Given the description of an element on the screen output the (x, y) to click on. 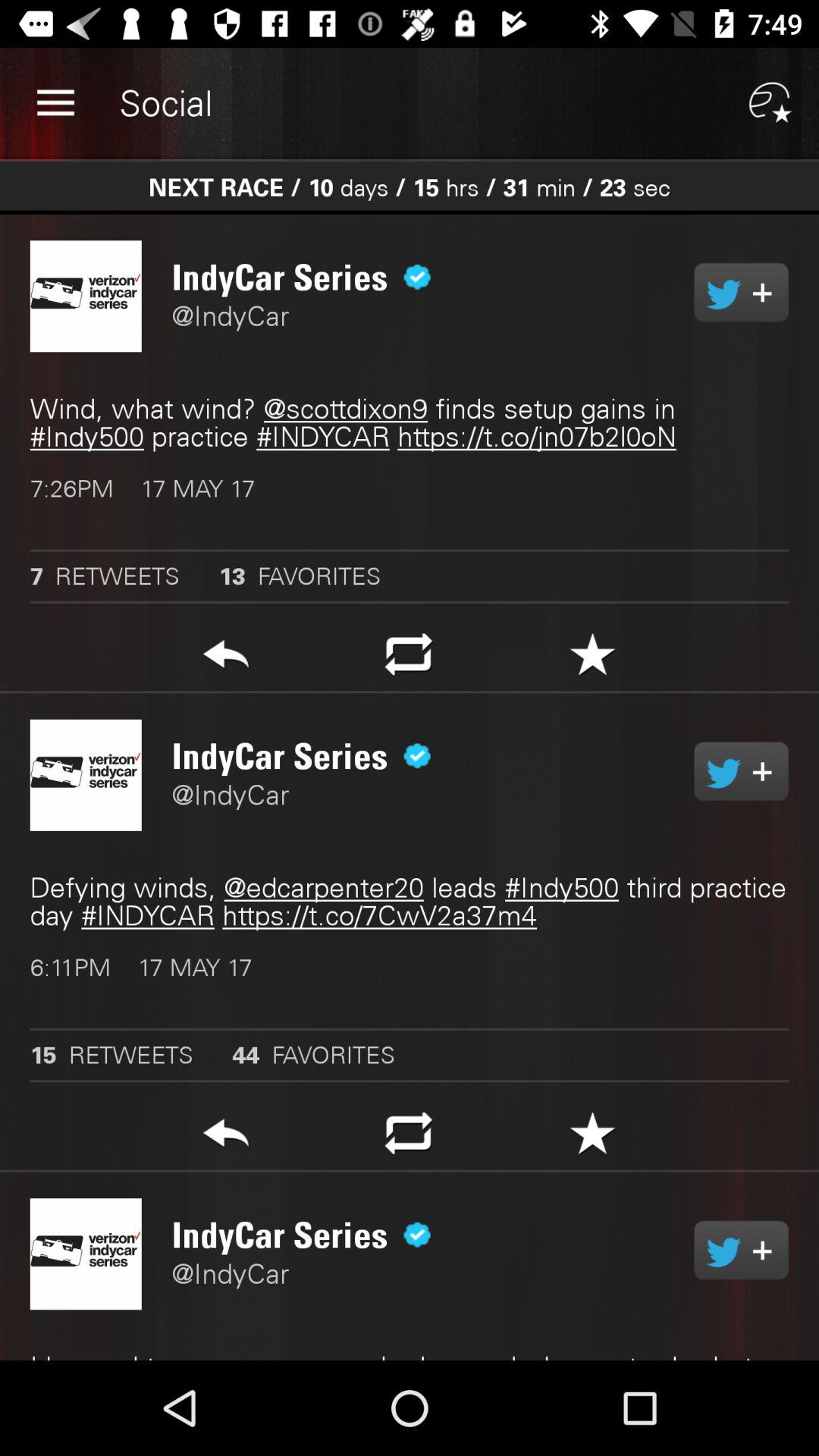
scroll until defying winds edcarpenter20 icon (409, 901)
